Given the description of an element on the screen output the (x, y) to click on. 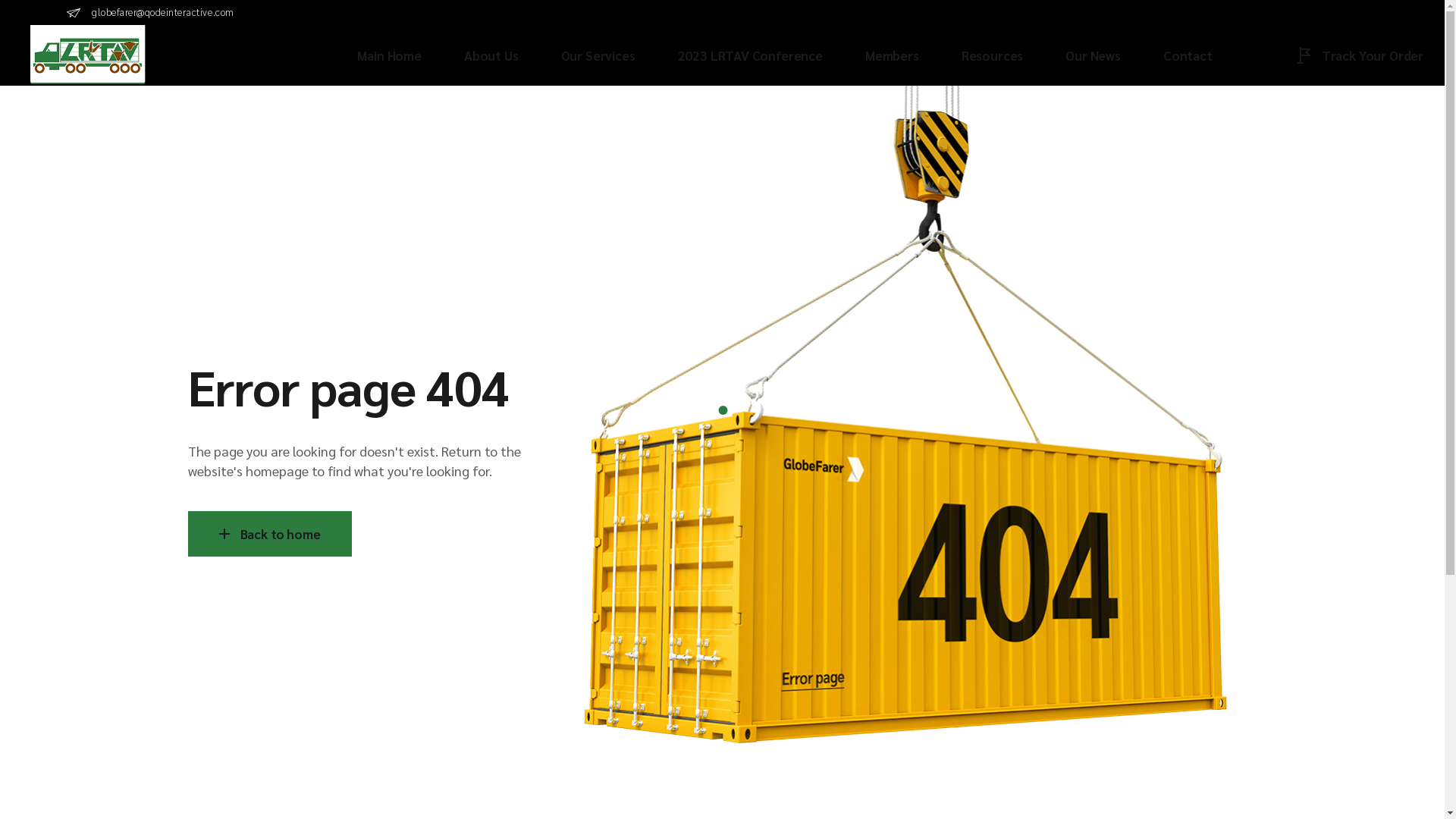
Main Home Element type: text (388, 54)
About Us Element type: text (491, 54)
2023 LRTAV Conference Element type: text (749, 54)
Resources Element type: text (991, 54)
Members Element type: text (892, 54)
Back to home Element type: text (269, 533)
Our Services Element type: text (598, 54)
globefarer@qodeinteractive.com Element type: text (150, 12)
Our News Element type: text (1092, 54)
Contact Element type: text (1187, 54)
